Given the description of an element on the screen output the (x, y) to click on. 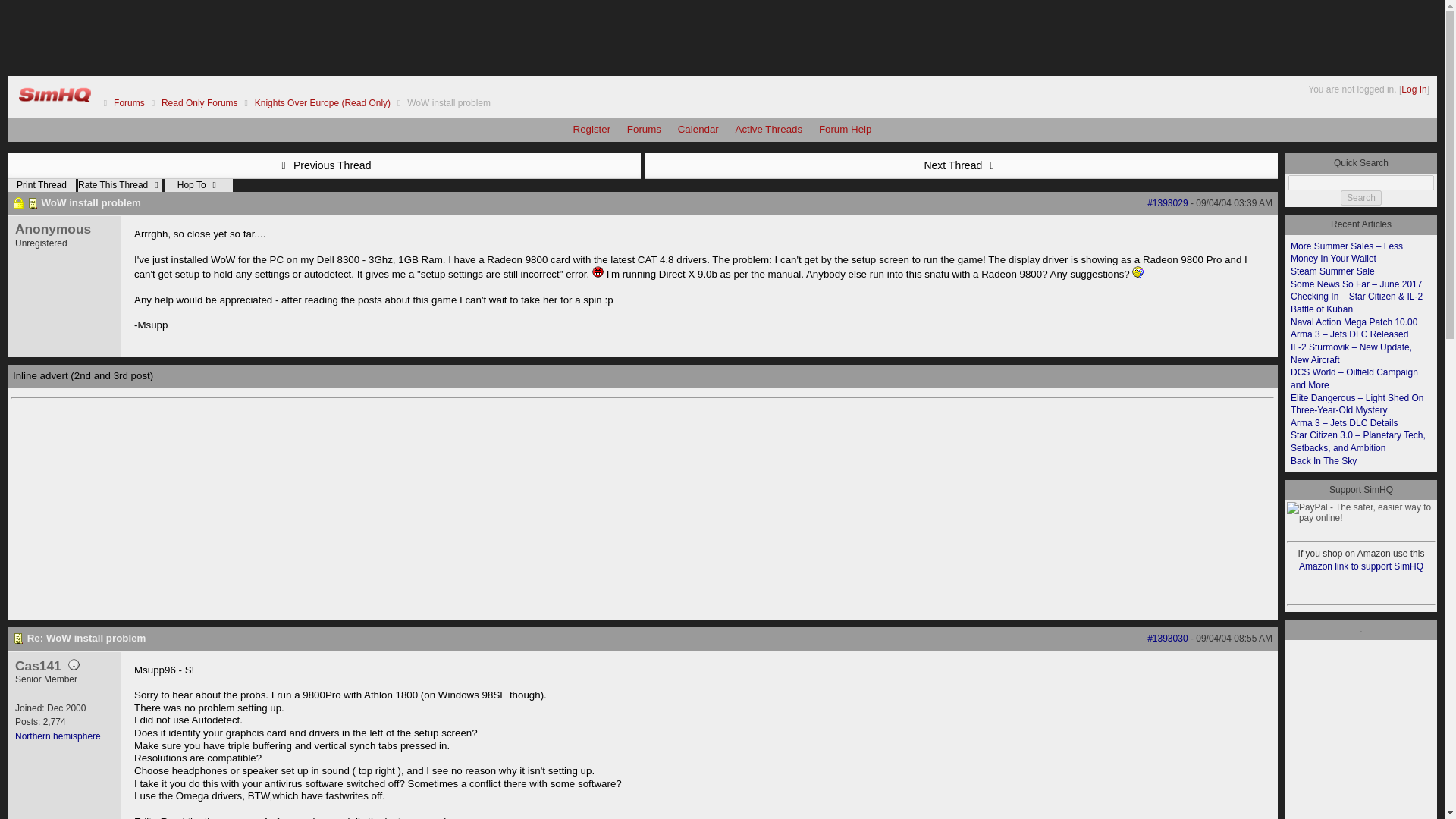
Calendar (698, 128)
Active Threads (769, 128)
Register (591, 128)
Forum Help (845, 128)
Northern hemisphere (57, 736)
Read Only Forums (199, 102)
Forums (128, 102)
Cas141 (37, 665)
Log In (1413, 89)
Offline (74, 664)
confused (1137, 271)
Forums (644, 128)
mad (598, 271)
Search (1360, 197)
